Given the description of an element on the screen output the (x, y) to click on. 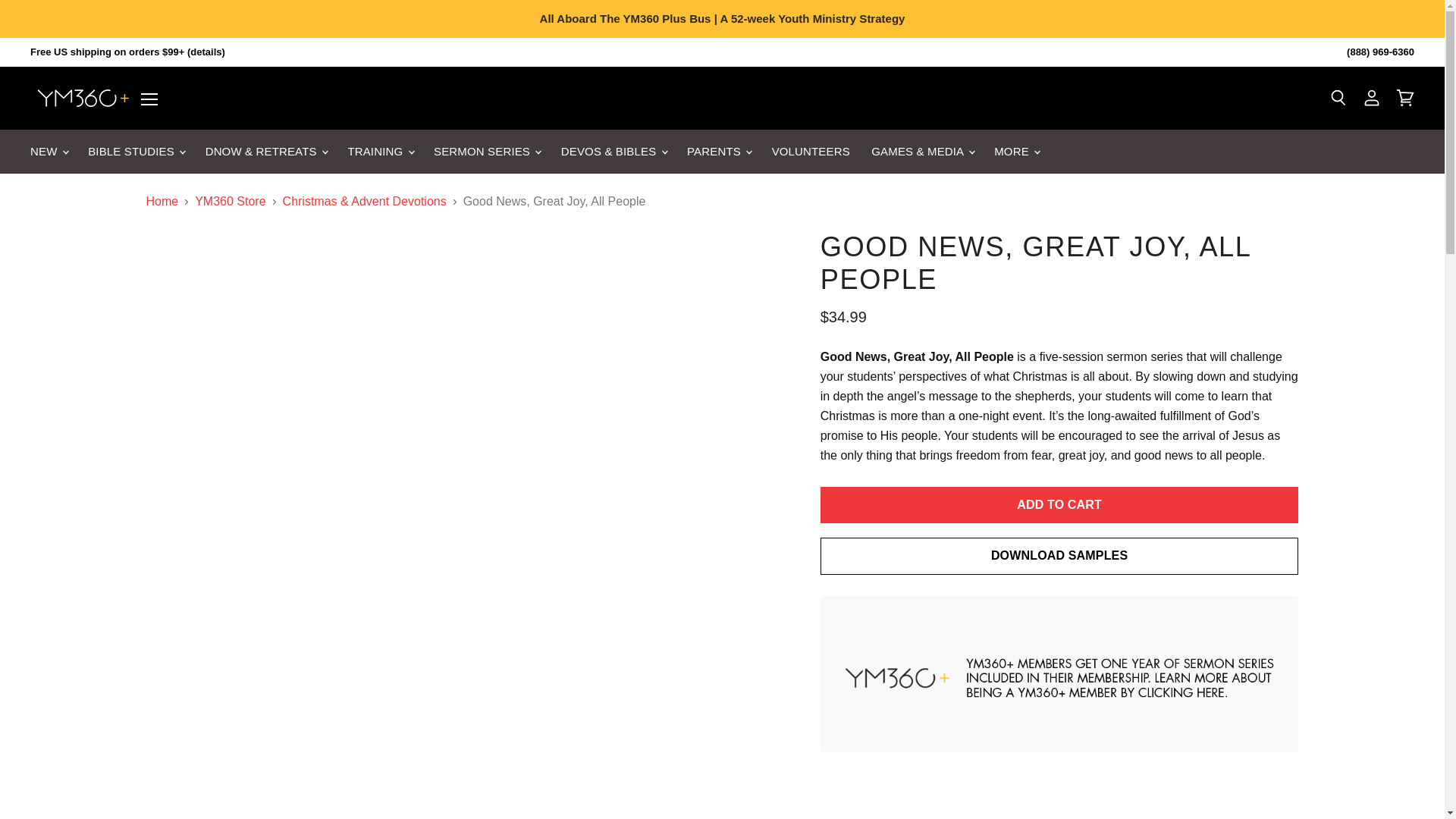
View account (1372, 98)
Search (1338, 98)
NEW (48, 151)
BIBLE STUDIES (135, 151)
View cart (1405, 98)
Menu (149, 98)
